Given the description of an element on the screen output the (x, y) to click on. 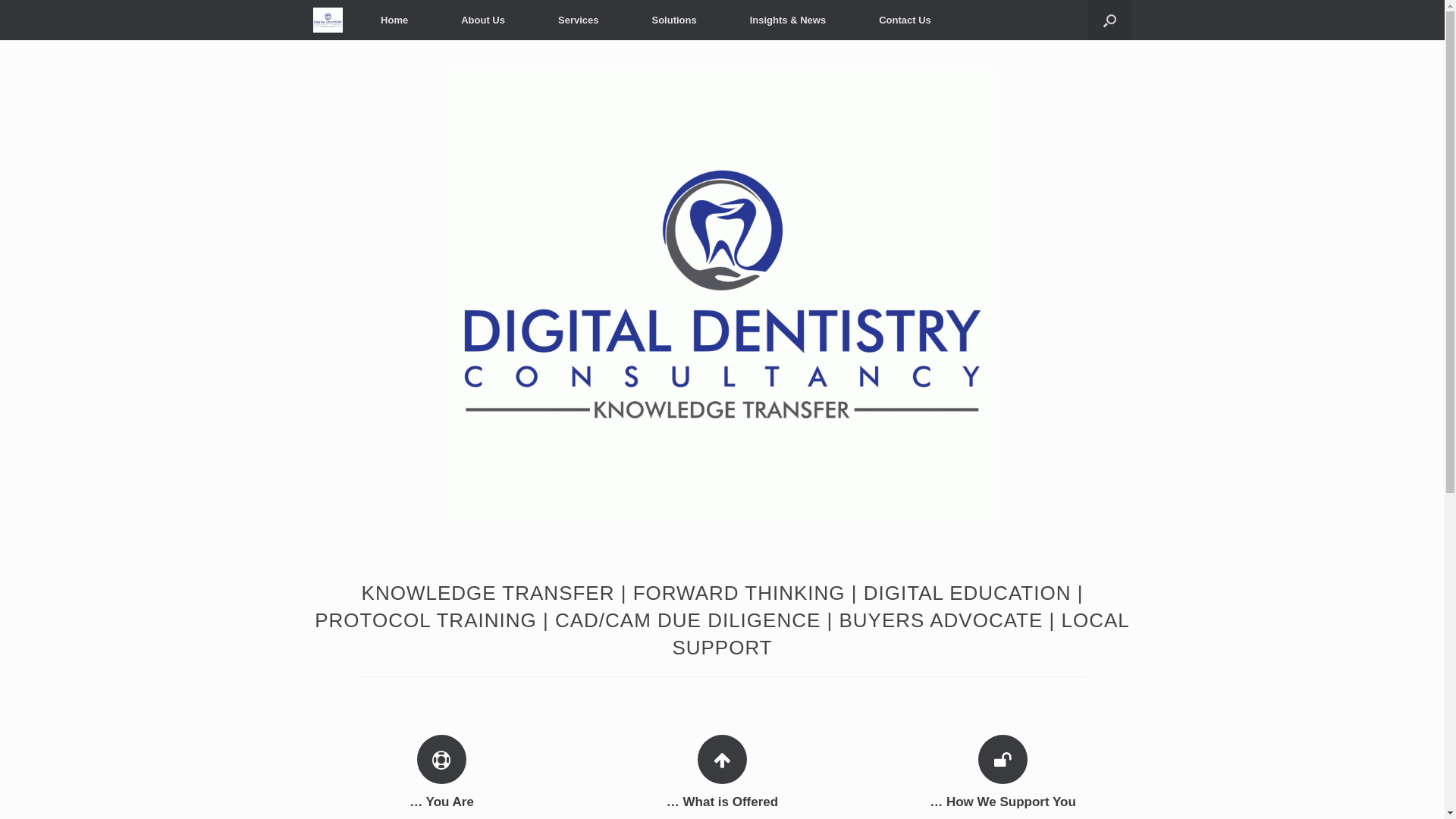
Insights & News Element type: text (787, 20)
About Us Element type: text (482, 20)
Digital Dentistry Consultancy Element type: hover (327, 20)
Services Element type: text (578, 20)
Solutions Element type: text (673, 20)
Skip to content Element type: text (0, 0)
Home Element type: text (394, 20)
Contact Us Element type: text (904, 20)
